Given the description of an element on the screen output the (x, y) to click on. 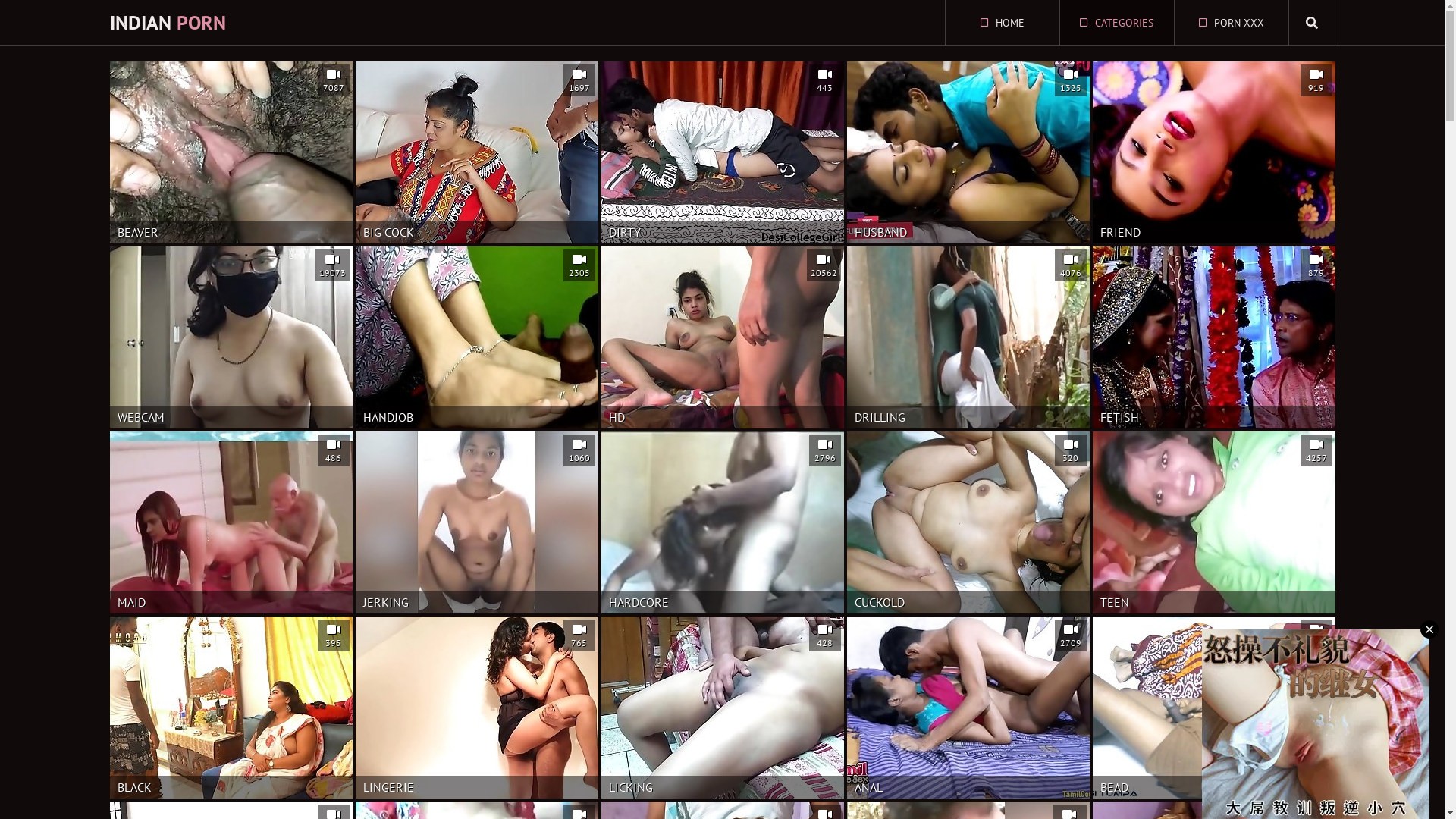
LICKING
428 Element type: text (721, 707)
HD
20562 Element type: text (721, 337)
HANDJOB
2305 Element type: text (475, 337)
LINGERIE
765 Element type: text (475, 707)
BIG COCK
1697 Element type: text (475, 152)
BEAVER
7087 Element type: text (230, 152)
CUCKOLD
320 Element type: text (967, 522)
ANAL
2709 Element type: text (967, 707)
BEAD
884 Element type: text (1213, 707)
HUSBAND
1325 Element type: text (967, 152)
TEEN
4257 Element type: text (1213, 522)
FRIEND
919 Element type: text (1213, 152)
FETISH
879 Element type: text (1213, 337)
DIRTY
443 Element type: text (721, 152)
DRILLING
4076 Element type: text (967, 337)
CATEGORIES Element type: text (1116, 22)
INDIAN PORN Element type: text (167, 22)
BLACK
395 Element type: text (230, 707)
WEBCAM
19073 Element type: text (230, 337)
MAID
486 Element type: text (230, 522)
HOME Element type: text (1001, 22)
HARDCORE
2796 Element type: text (721, 522)
PORN XXX Element type: text (1230, 22)
JERKING
1060 Element type: text (475, 522)
